Given the description of an element on the screen output the (x, y) to click on. 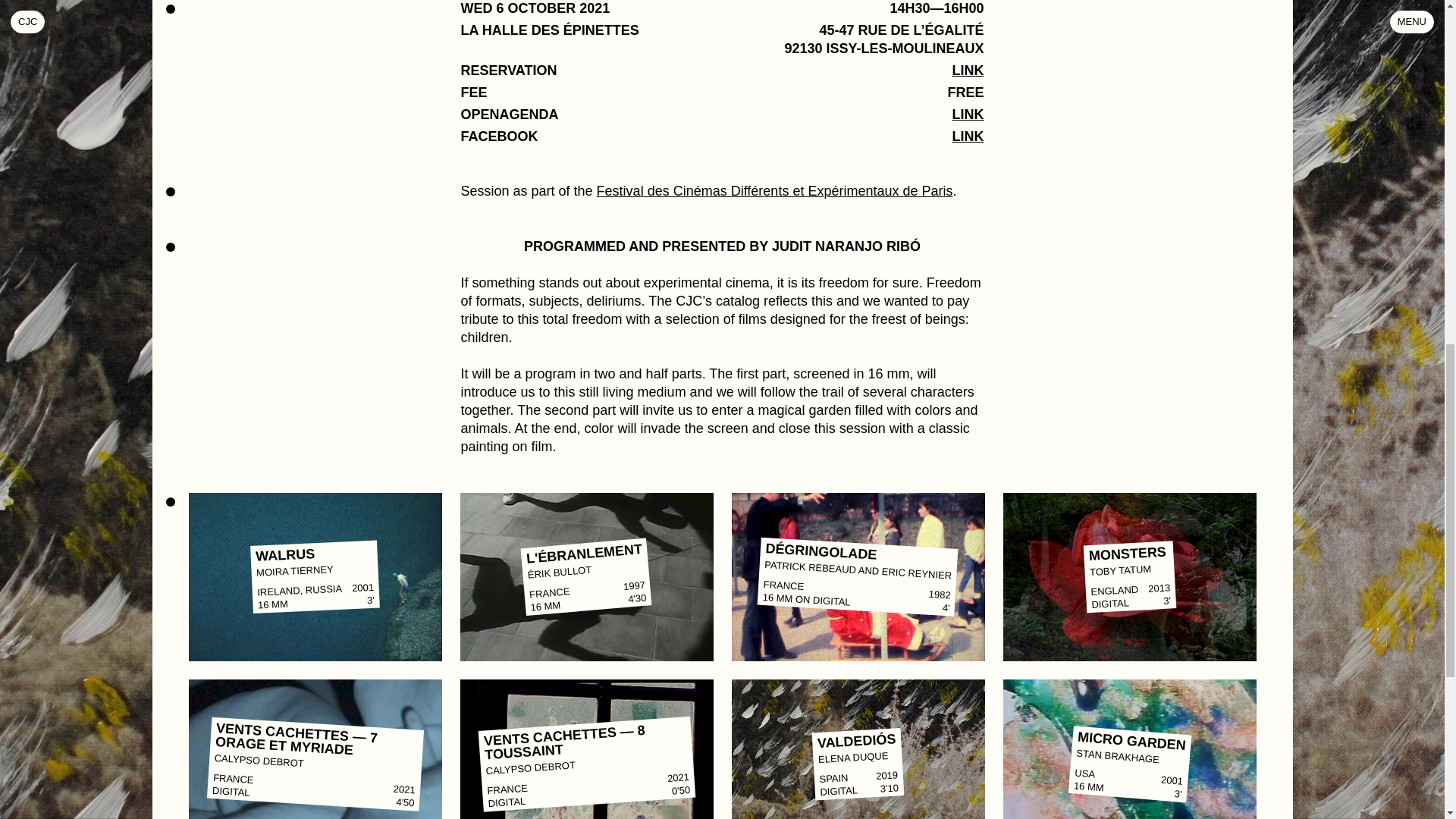
LINK (968, 70)
LINK (968, 136)
LINK (968, 114)
